Given the description of an element on the screen output the (x, y) to click on. 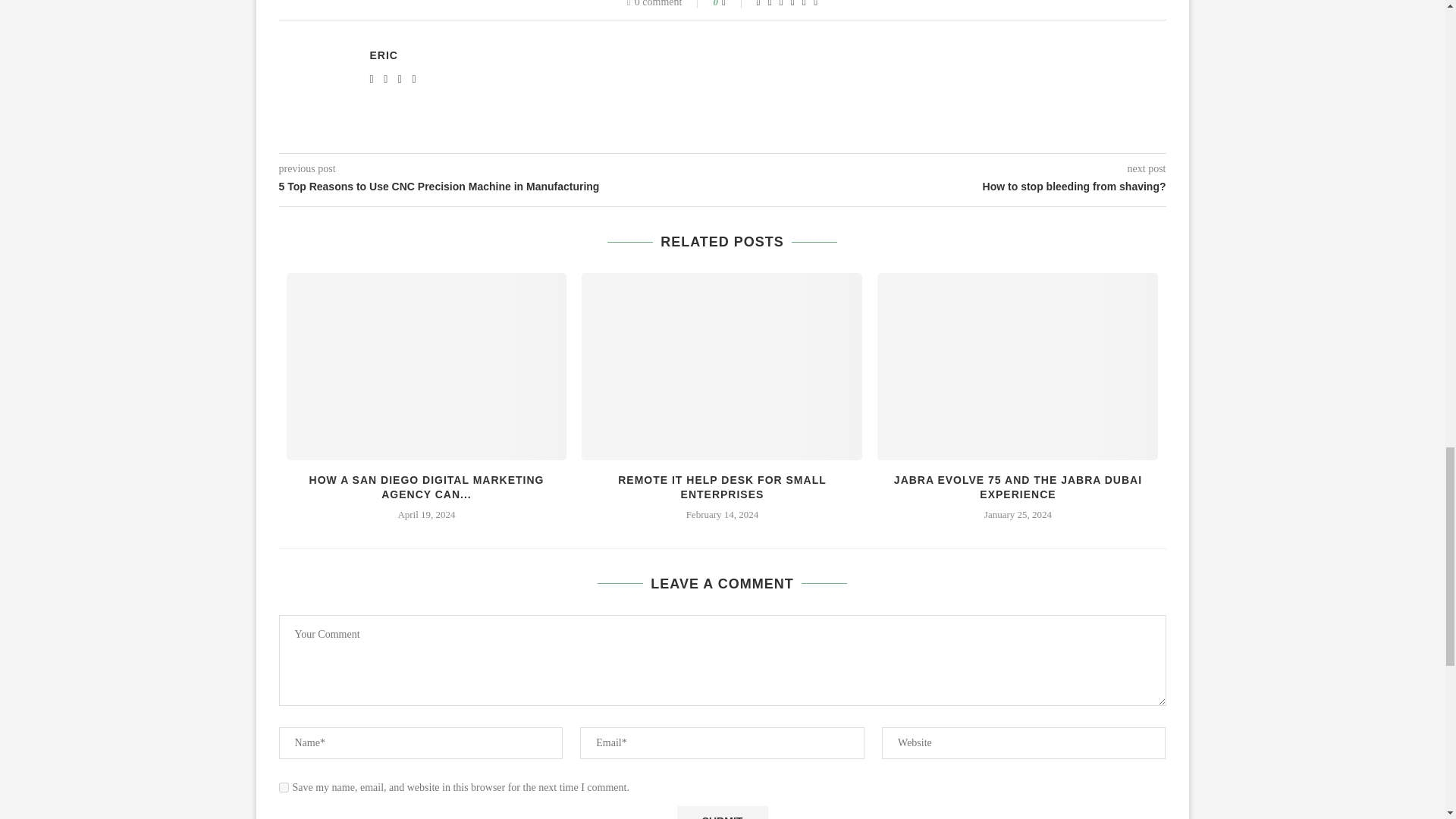
JABRA EVOLVE 75 and the Jabra Dubai Experience (1017, 366)
Remote IT Help Desk for Small Enterprises (720, 366)
Submit (722, 812)
Like (733, 4)
Posts by Eric (383, 55)
yes (283, 787)
